Given the description of an element on the screen output the (x, y) to click on. 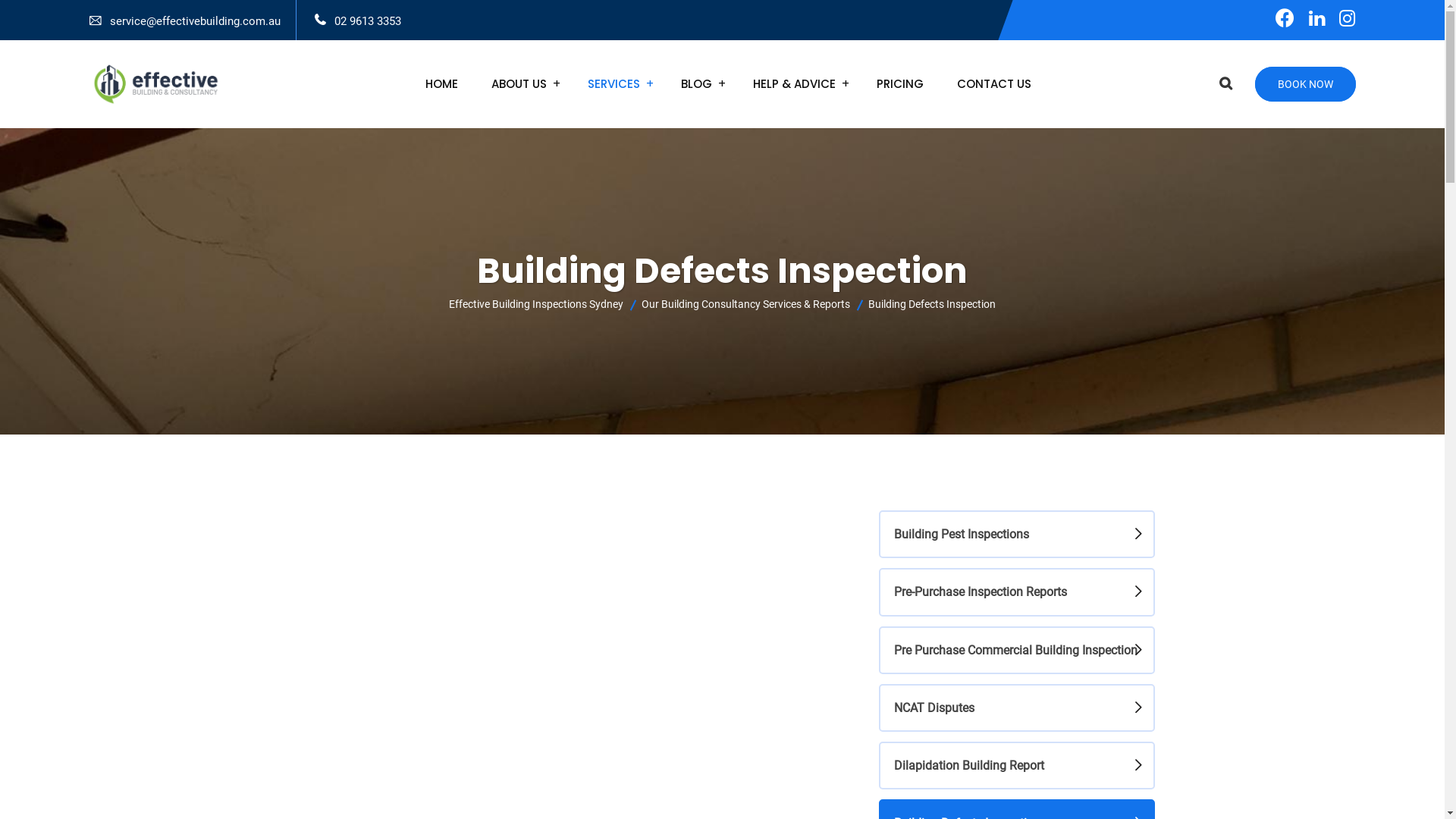
CONTACT US Element type: text (993, 84)
HELP & ADVICE Element type: text (794, 84)
NCAT Disputes Element type: text (1016, 707)
Building Pest Inspections Element type: text (1016, 534)
02 9613 3353 Element type: text (366, 21)
BOOK NOW Element type: text (1304, 83)
service@effectivebuilding.com.au Element type: text (194, 21)
Dilapidation Building Report Element type: text (1016, 765)
PRICING Element type: text (899, 84)
Pre-Purchase Inspection Reports Element type: text (1016, 591)
HOME Element type: text (441, 84)
SERVICES Element type: text (613, 84)
Pre Purchase Commercial Building Inspection Element type: text (1016, 650)
Our Building Consultancy Services & Reports Element type: text (745, 303)
ABOUT US Element type: text (518, 84)
Effective Building Inspections Sydney Element type: text (535, 303)
BLOG Element type: text (696, 84)
